Given the description of an element on the screen output the (x, y) to click on. 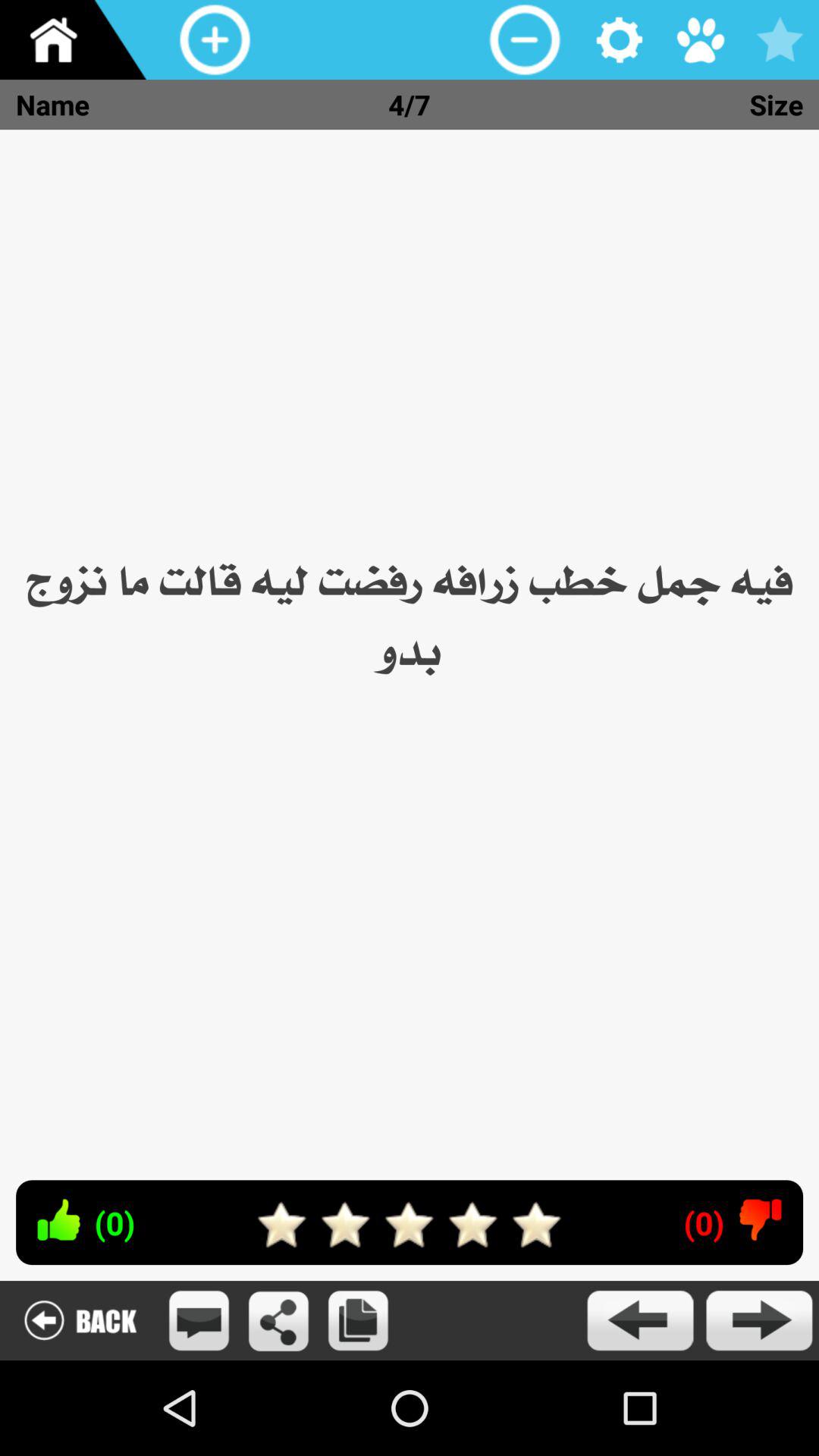
turn on the icon above the size icon (779, 39)
